Given the description of an element on the screen output the (x, y) to click on. 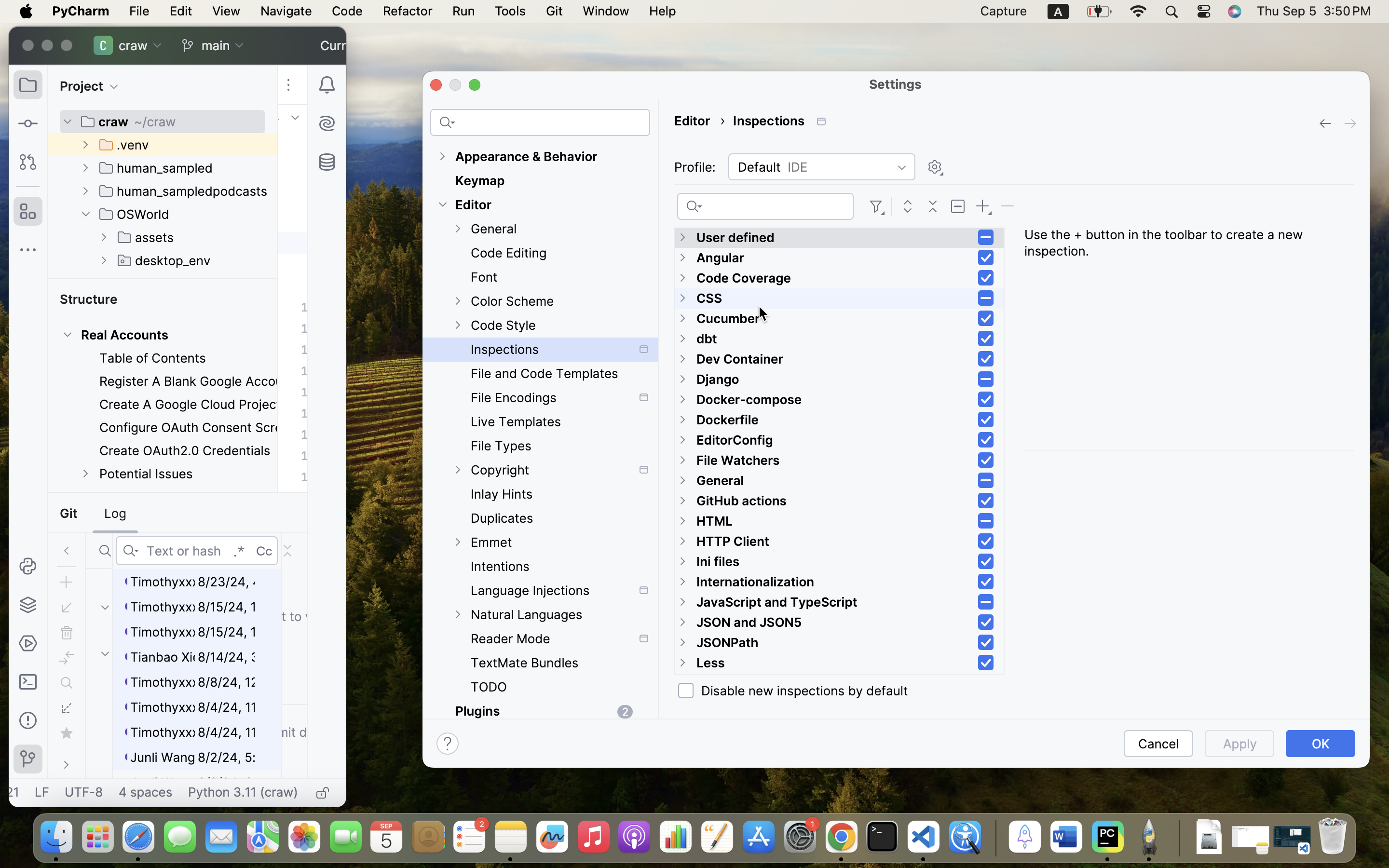
Settings Element type: AXStaticText (895, 83)
